Given the description of an element on the screen output the (x, y) to click on. 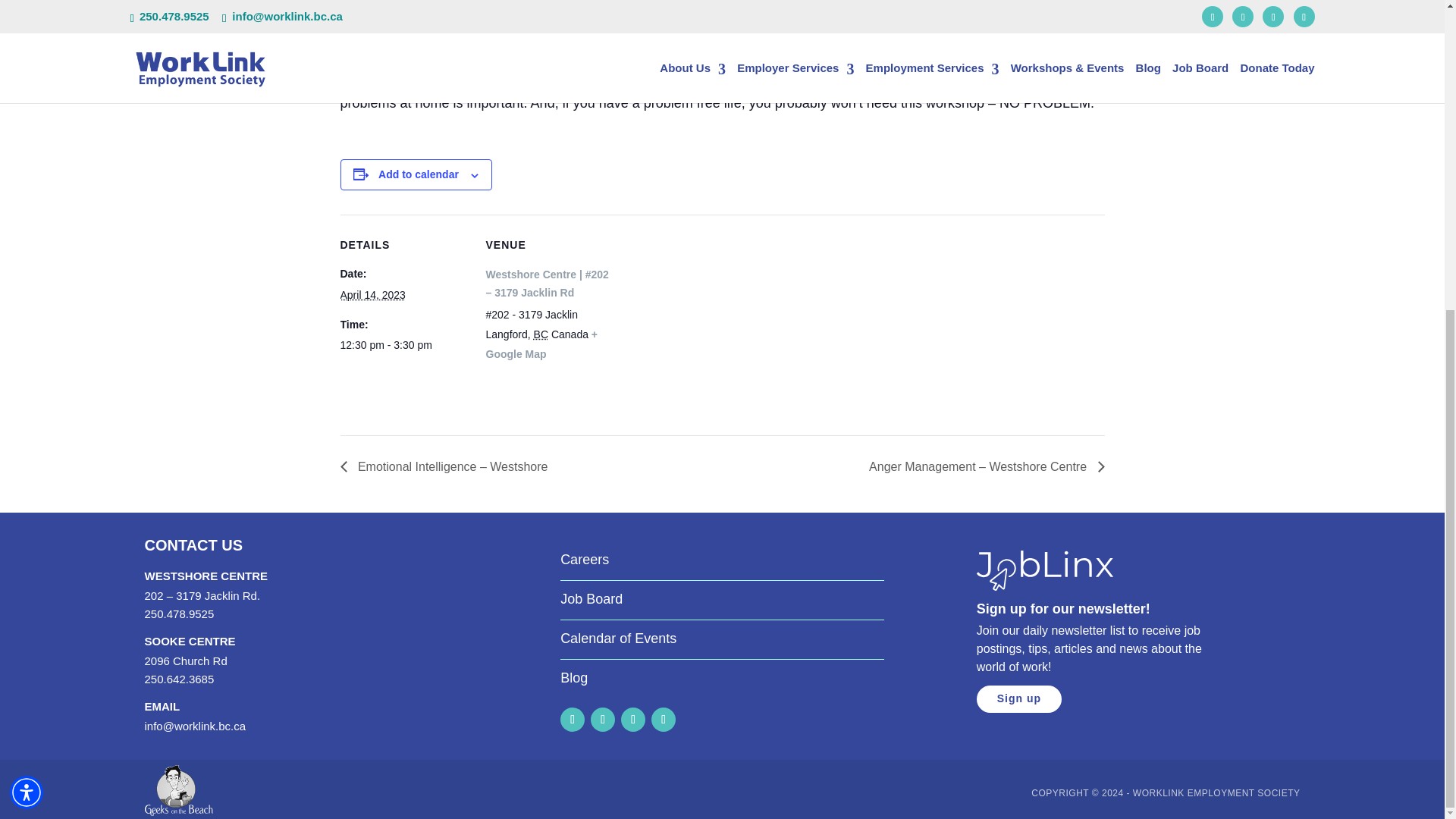
Click to view a Google Map (540, 344)
BC (541, 334)
2023-04-14 (403, 344)
Accessibility Menu (26, 299)
2023-04-14 (371, 295)
